Given the description of an element on the screen output the (x, y) to click on. 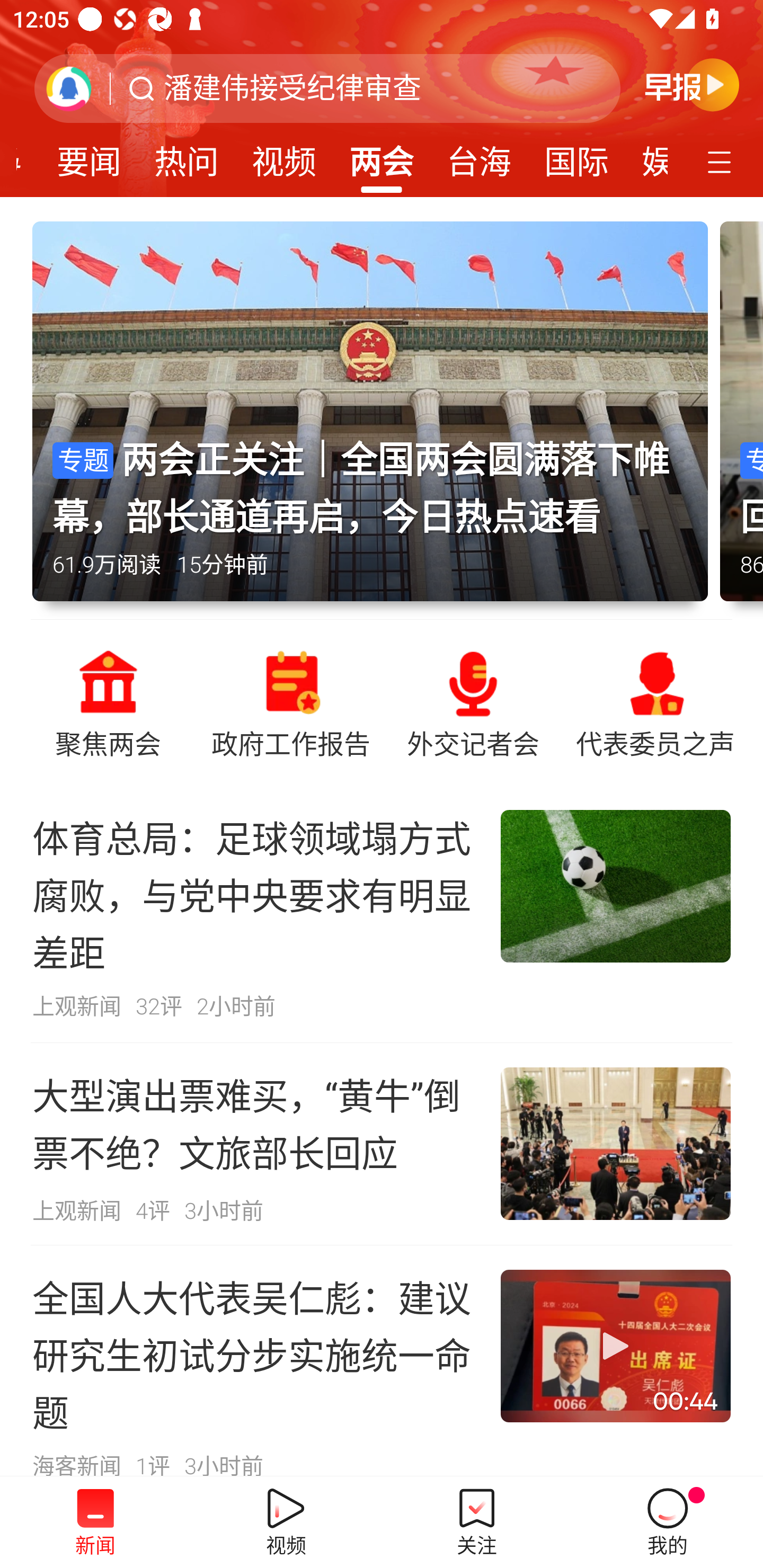
早晚报 (691, 84)
刷新 (68, 88)
潘建伟接受纪律审查 (292, 88)
要闻 (89, 155)
热问 (186, 155)
视频 (283, 155)
两会 (381, 155)
台海 (478, 155)
国际 (575, 155)
 定制频道 (721, 160)
专题两会正关注｜全国两会圆满落下帷幕，部长通道再启，今日热点速看 61.9万阅读   15分钟前 (376, 420)
聚焦两会 (107, 702)
政府工作报告 (290, 702)
外交记者会 (473, 702)
代表委员之声 (655, 702)
体育总局：足球领域塌方式腐败，与党中央要求有明显差距 上观新闻 32评 2小时前 (381, 913)
大型演出票难买，“黄牛”倒票不绝？文旅部长回应 上观新闻 4评 3小时前 (381, 1143)
全国人大代表吴仁彪：建议研究生初试分步实施统一命题 00:44 海客新闻 1评 3小时前 (381, 1360)
